Given the description of an element on the screen output the (x, y) to click on. 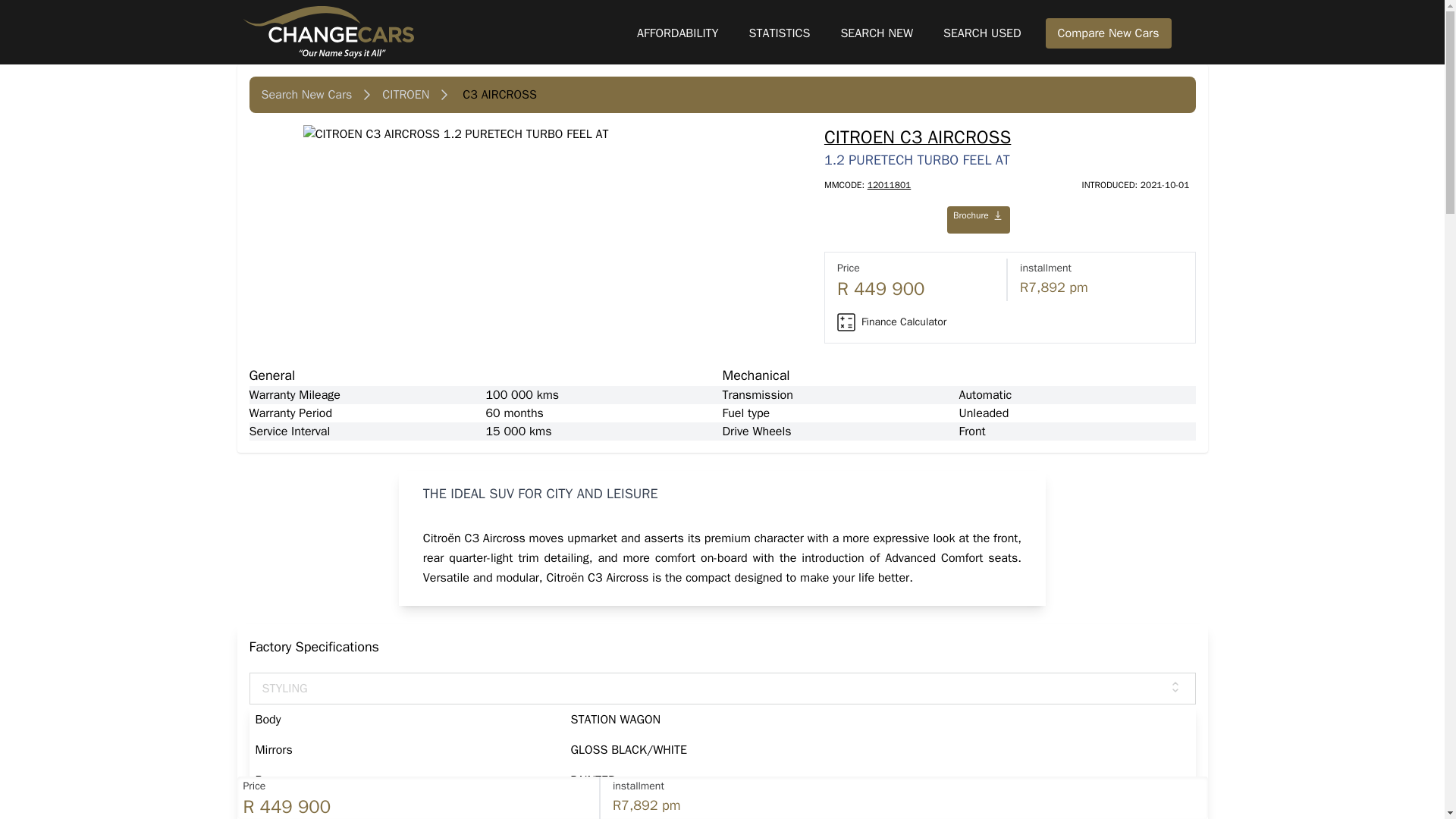
Compare New Cars (1108, 33)
AFFORDABILITY (677, 32)
CITROEN C3 AIRCROSS (1009, 137)
STATISTICS (779, 32)
12011801 (889, 184)
Online Vehicle Finance Calculators (677, 32)
STYLING (721, 688)
CITROEN (405, 94)
View our home page (433, 31)
Search quality pre-owned vehicles (982, 32)
Interesting facts about SA's available new vehicles (779, 32)
View all CITROENs (405, 94)
Finance Calculator (891, 322)
Search New Cars (306, 94)
Brochure (978, 215)
